Given the description of an element on the screen output the (x, y) to click on. 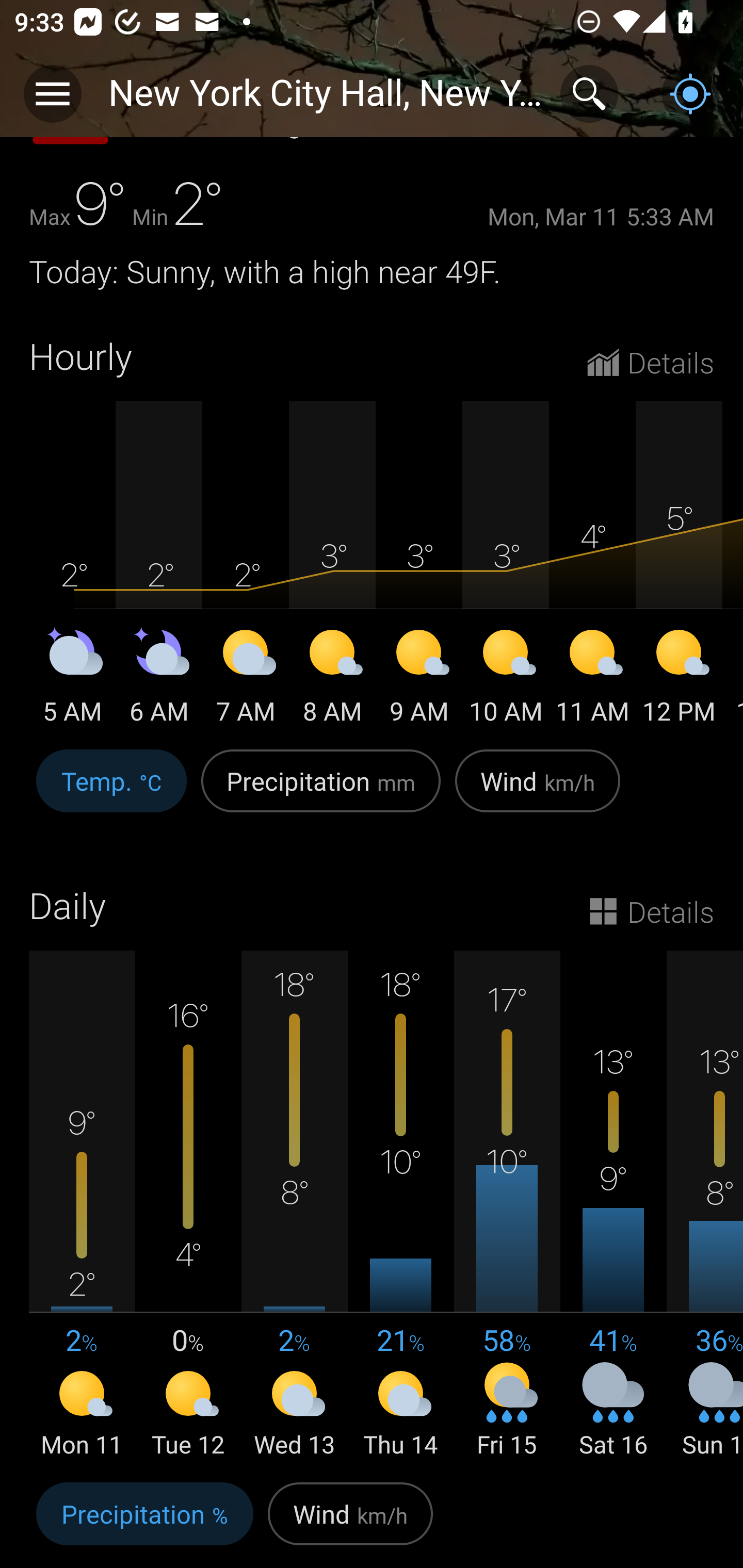
5 AM (71, 679)
6 AM (158, 679)
7 AM (245, 679)
8 AM (332, 679)
9 AM (418, 679)
10 AM (505, 679)
11 AM (592, 679)
12 PM (679, 679)
Temp. °C (110, 791)
Precipitation mm (320, 791)
Wind km/h (537, 791)
9° 2° 2 % Mon 11 (81, 1205)
16° 4° 0 % Tue 12 (188, 1205)
18° 8° 2 % Wed 13 (294, 1205)
18° 10° 21 % Thu 14 (400, 1205)
17° 10° 58 % Fri 15 (506, 1205)
13° 9° 41 % Sat 16 (613, 1205)
13° 8° 36 % Sun 17 (704, 1205)
Precipitation % (144, 1521)
Wind km/h (349, 1521)
